Given the description of an element on the screen output the (x, y) to click on. 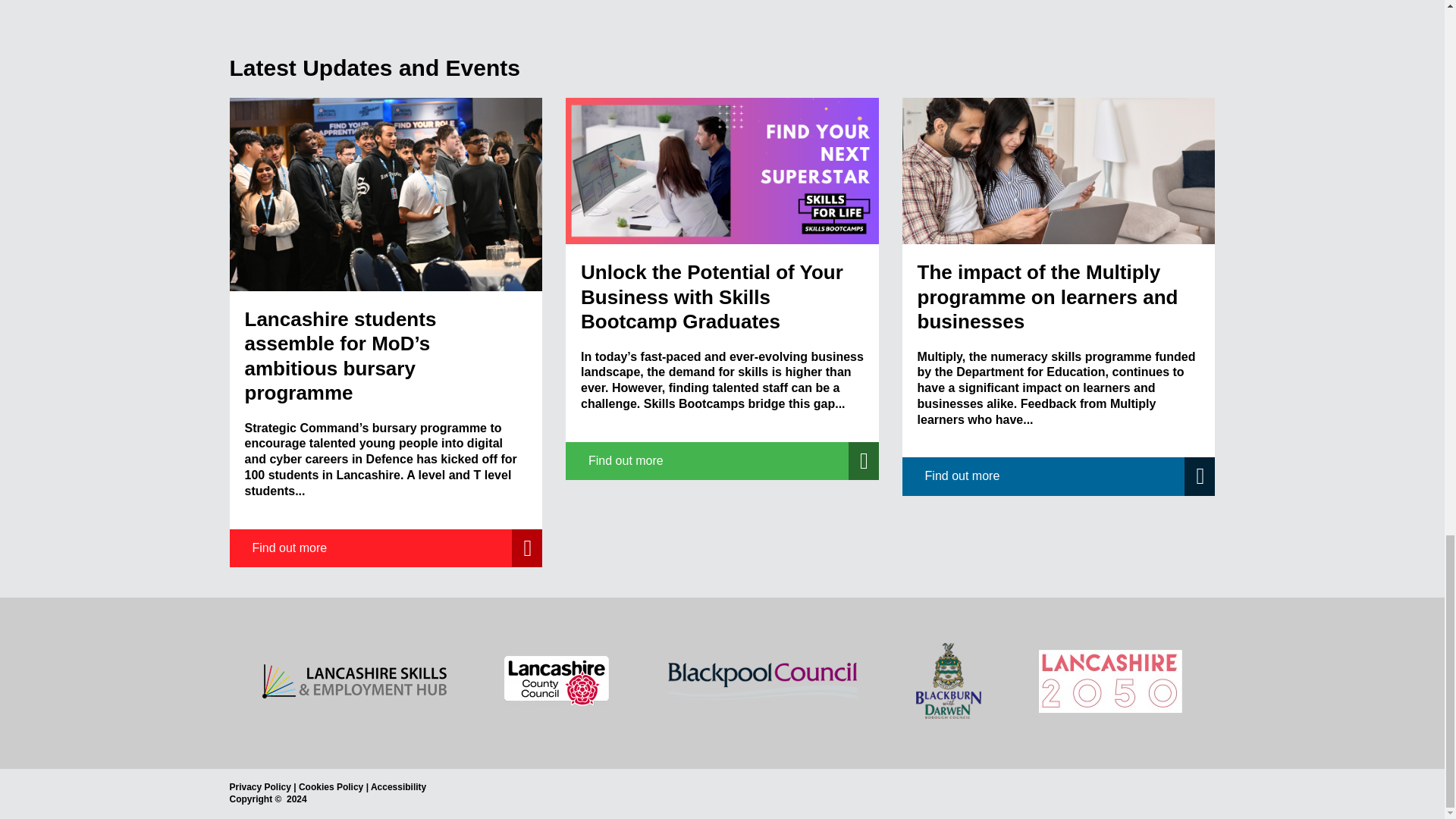
Cookies Policy (330, 787)
Accessibility Policy (398, 787)
Privacy Policy (258, 787)
